Given the description of an element on the screen output the (x, y) to click on. 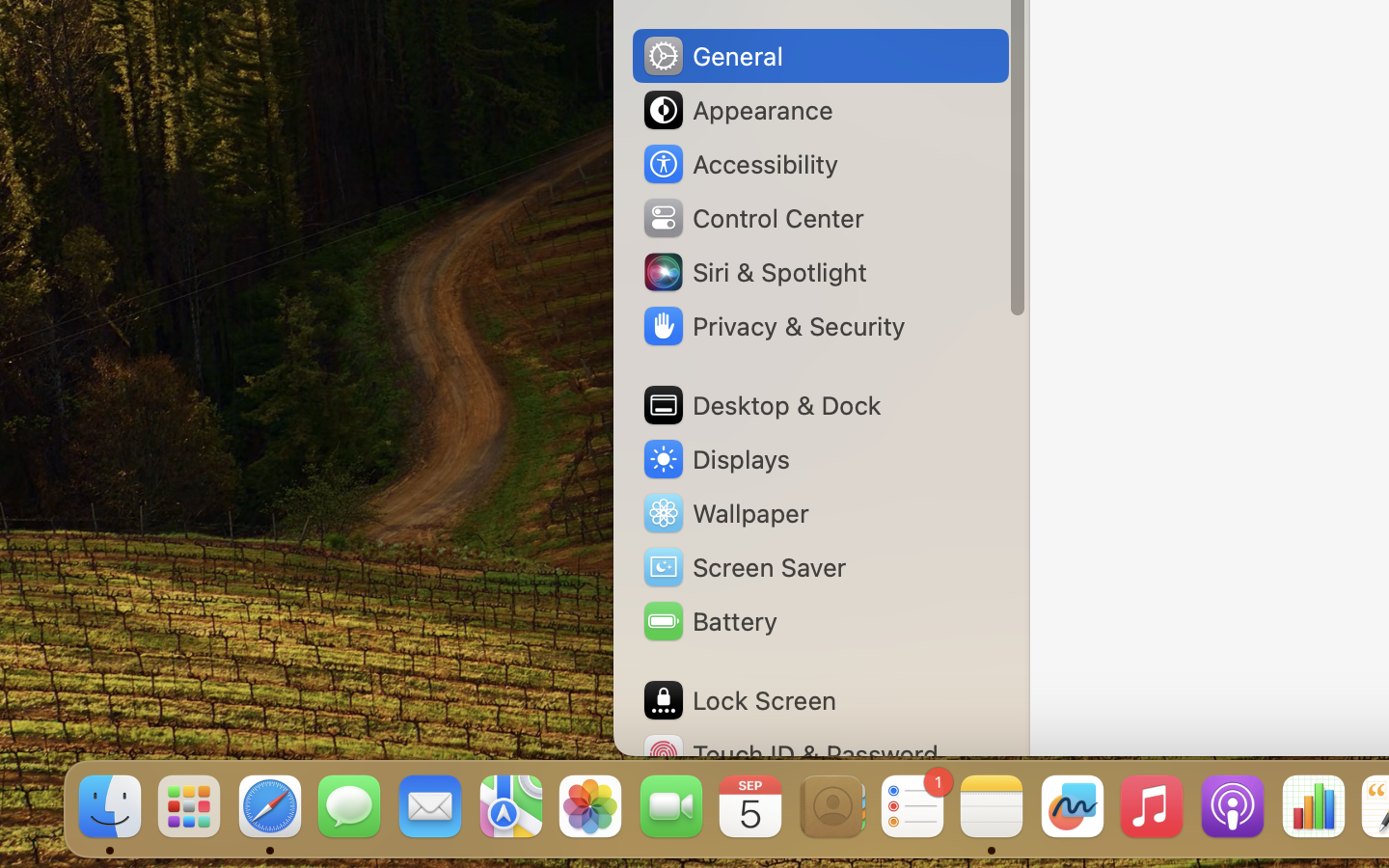
General Element type: AXStaticText (711, 55)
Siri & Spotlight Element type: AXStaticText (753, 271)
Wallpaper Element type: AXStaticText (724, 512)
Screen Saver Element type: AXStaticText (743, 566)
Accessibility Element type: AXStaticText (739, 163)
